Given the description of an element on the screen output the (x, y) to click on. 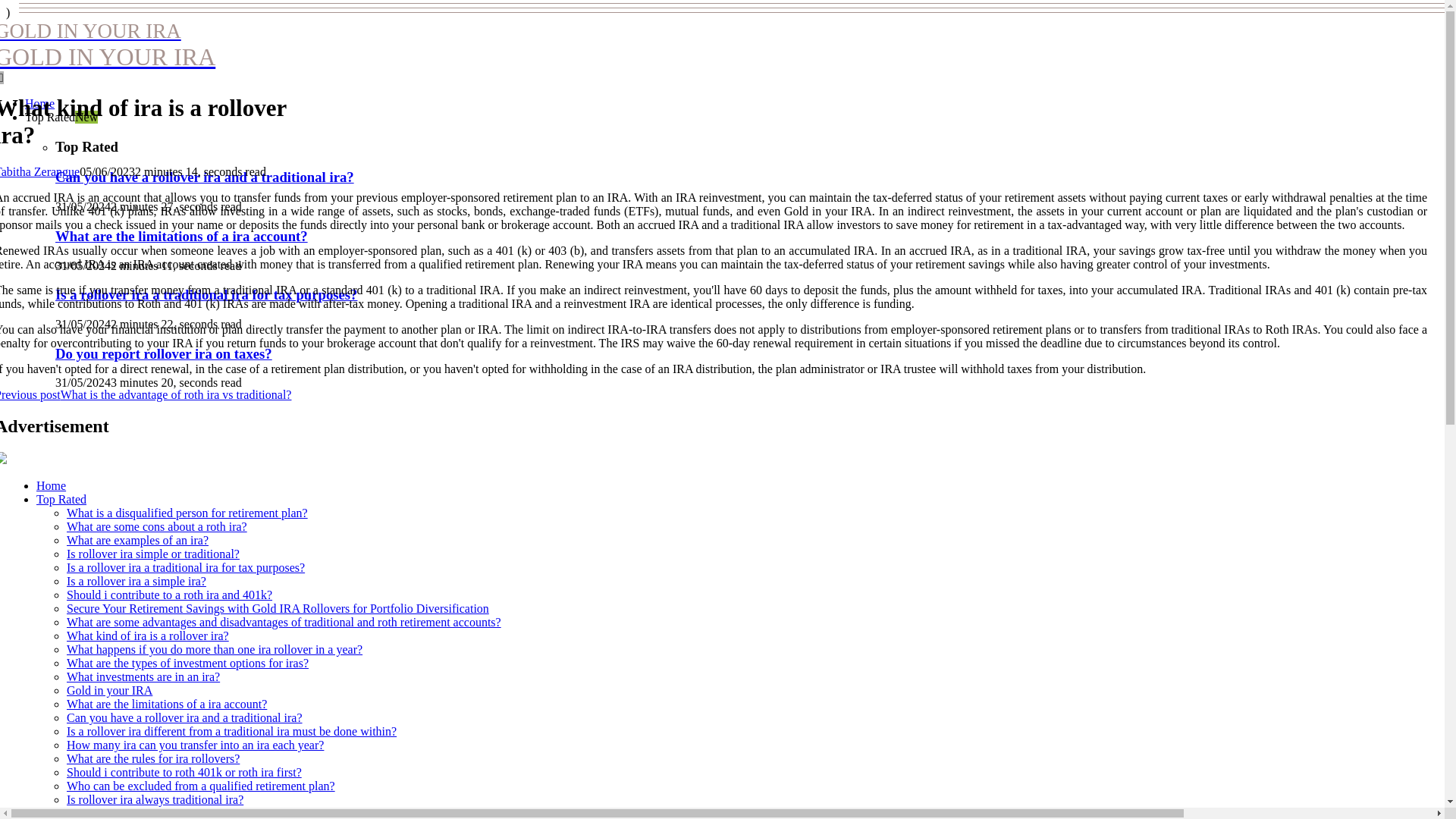
Home (50, 485)
Do you report rollover ira on taxes? (163, 353)
Posts by Tabitha Zerangue (40, 171)
Tabitha Zerangue (40, 171)
Should i contribute to roth 401k or roth ira first? (183, 771)
What investments are in an ira? (142, 676)
Is rollover ira simple or traditional? (153, 553)
What is a disqualified person for retirement plan? (186, 512)
Top Rated (60, 499)
Can you have a rollover ira and a traditional ira? (184, 717)
